Given the description of an element on the screen output the (x, y) to click on. 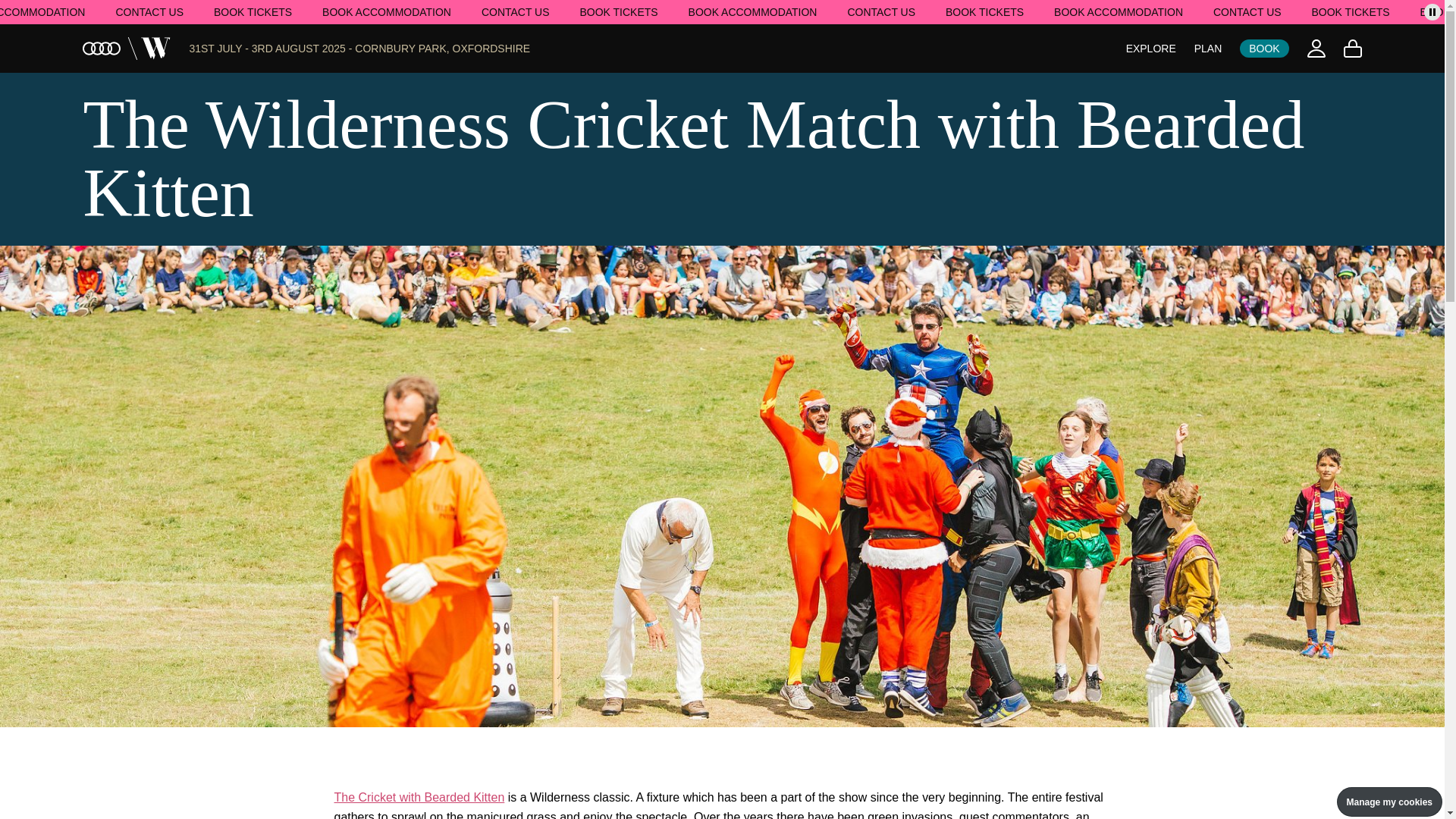
BOOK ACCOMMODATION (386, 11)
BOOK TICKETS (984, 11)
CONTACT US (514, 11)
BOOK ACCOMMODATION (752, 11)
PLAN (1208, 48)
31ST JULY - 3RD AUGUST 2025 - CORNBURY PARK, OXFORDSHIRE (359, 48)
BOOK TICKETS (618, 11)
BOOK (1264, 48)
BOOK ACCOMMODATION (1118, 11)
CONTACT US (149, 11)
